Given the description of an element on the screen output the (x, y) to click on. 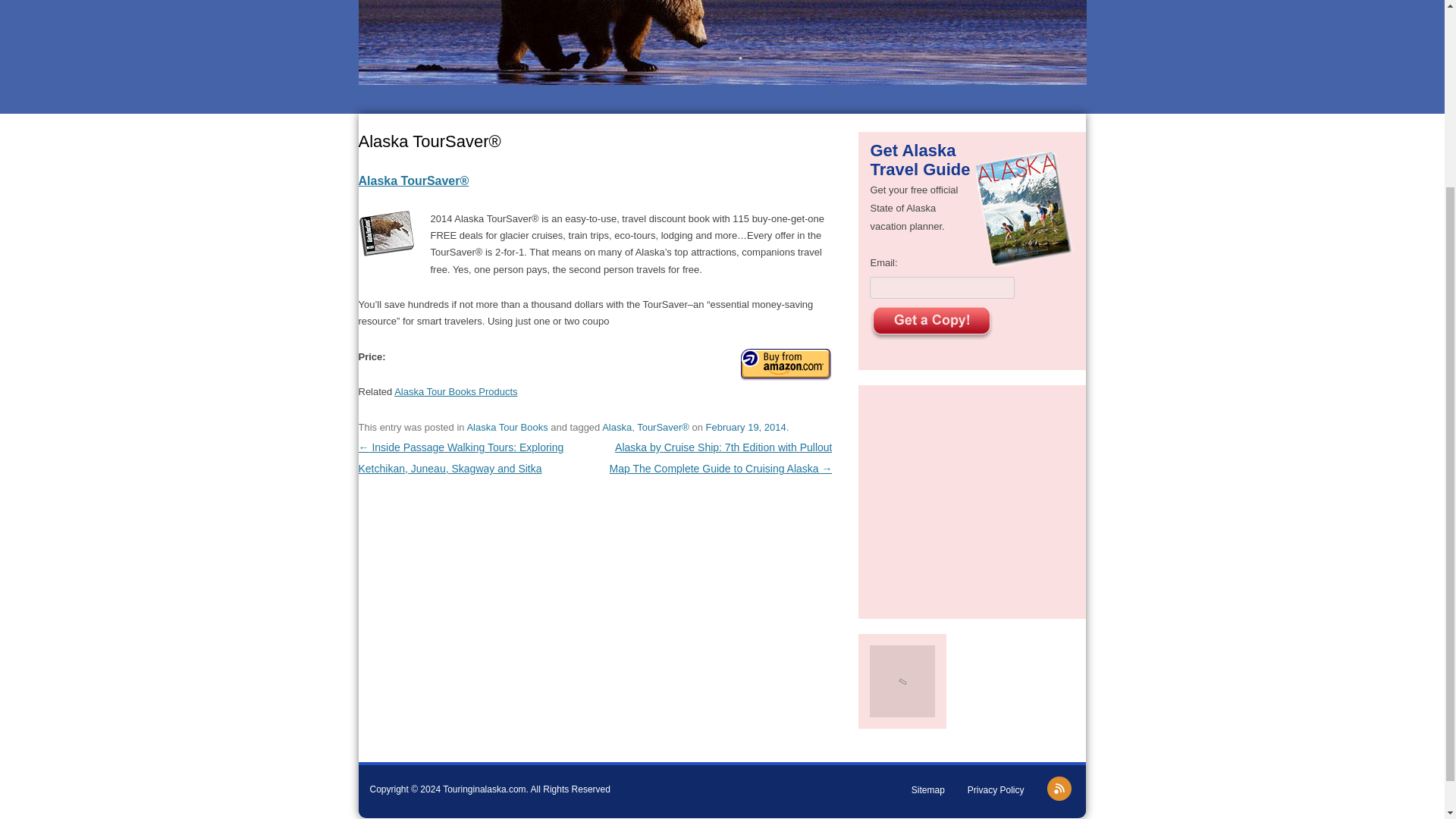
Alaska Tour Books Products (455, 391)
Alaska (616, 427)
ALASKA WEATHER (722, 54)
Send (930, 323)
Sitemap (927, 789)
7:26 am (746, 427)
Privacy Policy (996, 789)
Send (930, 323)
Advertisement (972, 498)
February 19, 2014 (746, 427)
Alaska Tour Books (506, 427)
Weather Widget (722, 54)
